Given the description of an element on the screen output the (x, y) to click on. 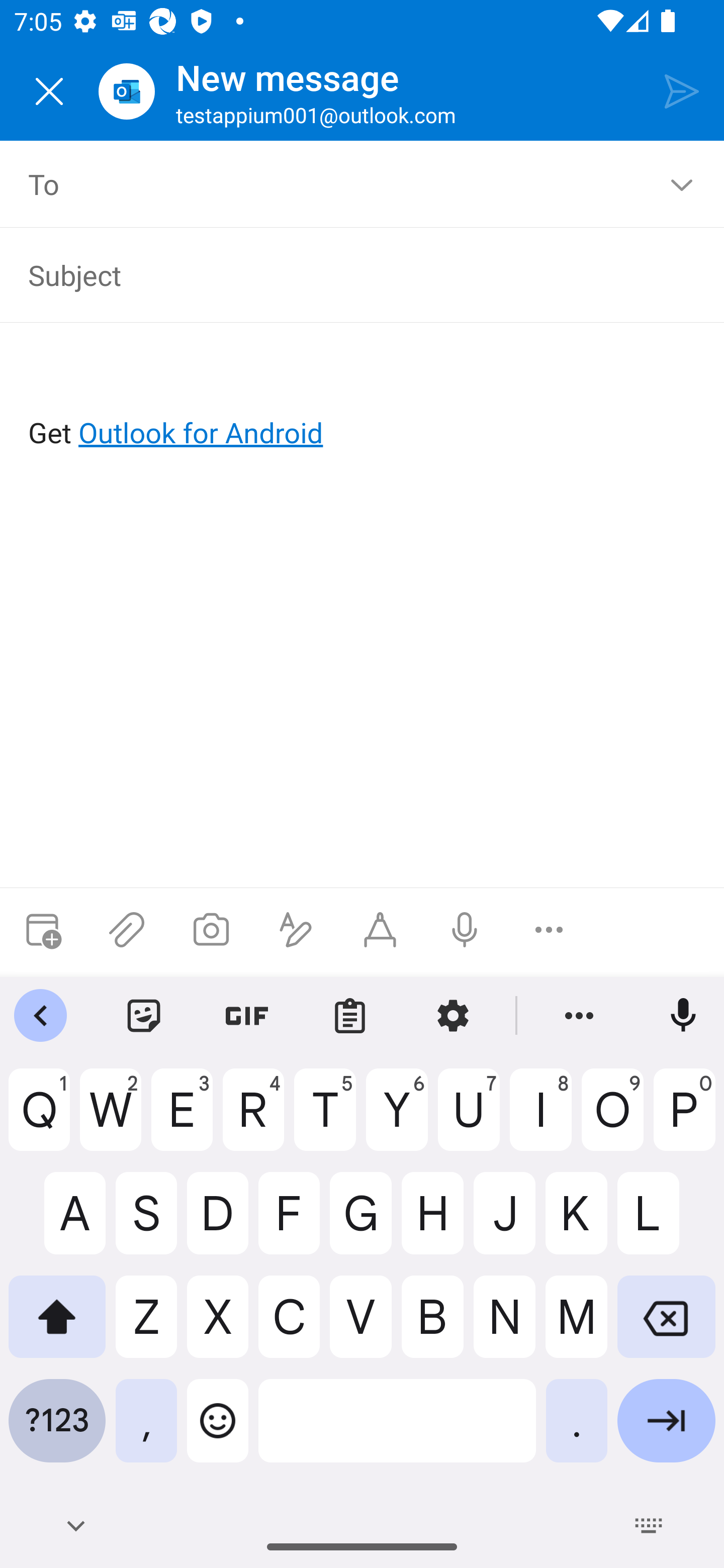
Close (49, 91)
Send (681, 90)
Subject (347, 274)


Get Outlook for Android (363, 400)
Attach meeting (42, 929)
Attach files (126, 929)
Take a photo (210, 929)
Show formatting options (295, 929)
Start Ink compose (380, 929)
Dictation (464, 929)
More options (548, 929)
